Given the description of an element on the screen output the (x, y) to click on. 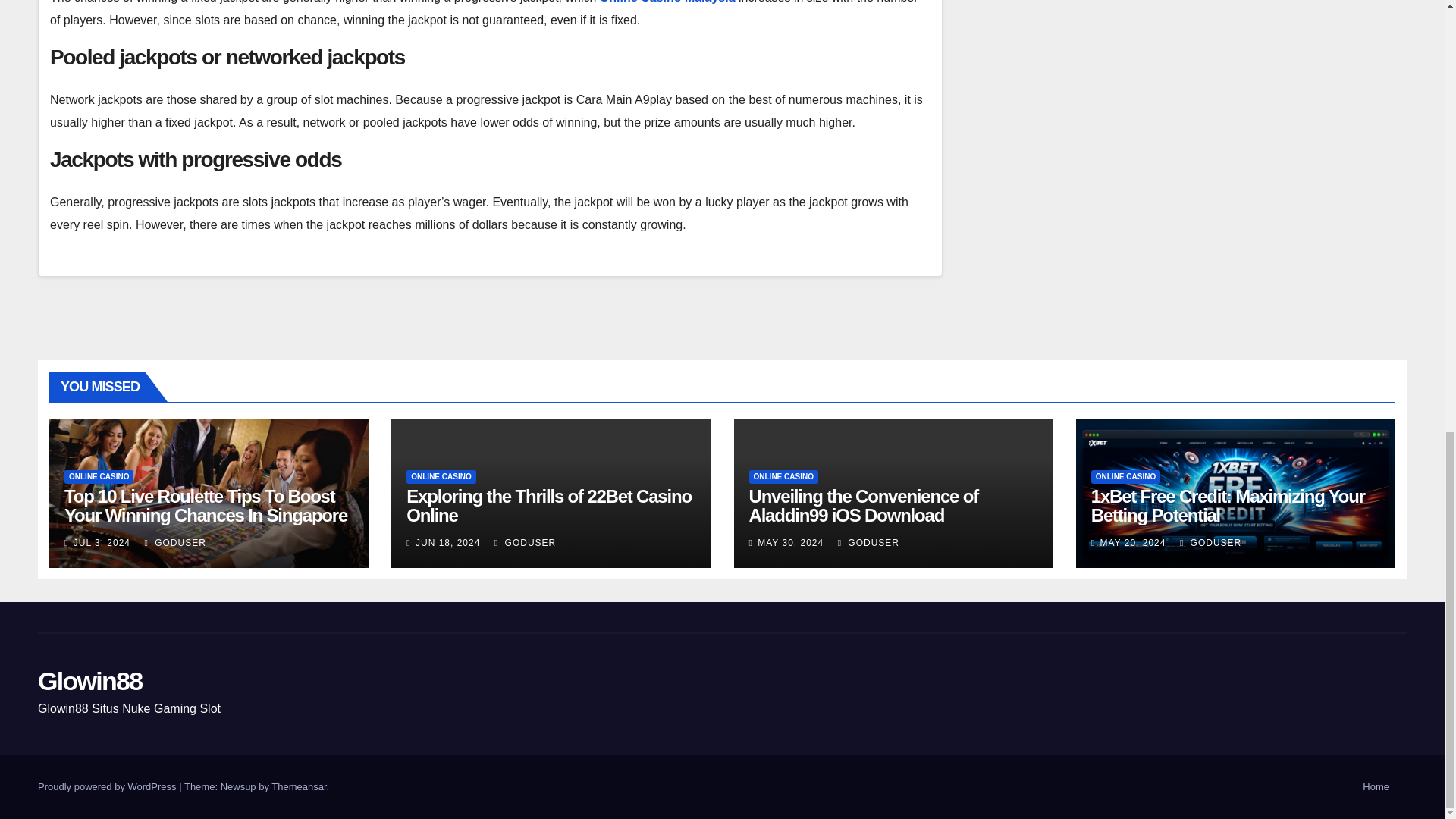
MAY 20, 2024 (1132, 542)
ONLINE CASINO (98, 477)
1xBet Free Credit: Maximizing Your Betting Potential (1227, 505)
GODUSER (868, 542)
Unveiling the Convenience of Aladdin99 iOS Download (863, 505)
ONLINE CASINO (441, 477)
ONLINE CASINO (1125, 477)
ONLINE CASINO (783, 477)
Permalink to: Exploring the Thrills of 22Bet Casino Online (548, 505)
JUN 18, 2024 (447, 542)
Exploring the Thrills of 22Bet Casino Online (548, 505)
